Given the description of an element on the screen output the (x, y) to click on. 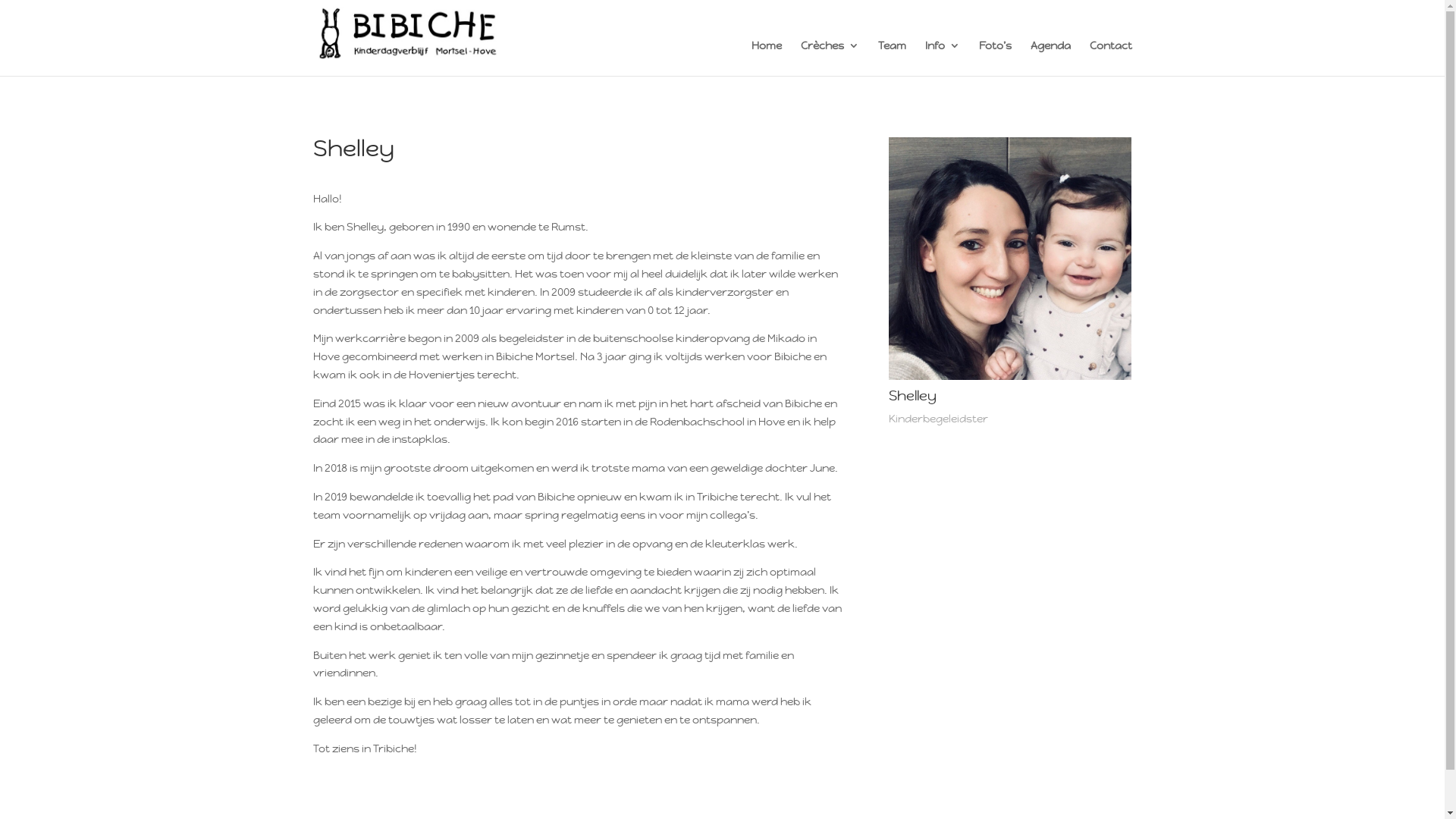
Info Element type: text (942, 57)
Home Element type: text (765, 57)
Team Element type: text (892, 57)
Agenda Element type: text (1049, 57)
Contact Element type: text (1109, 57)
